Given the description of an element on the screen output the (x, y) to click on. 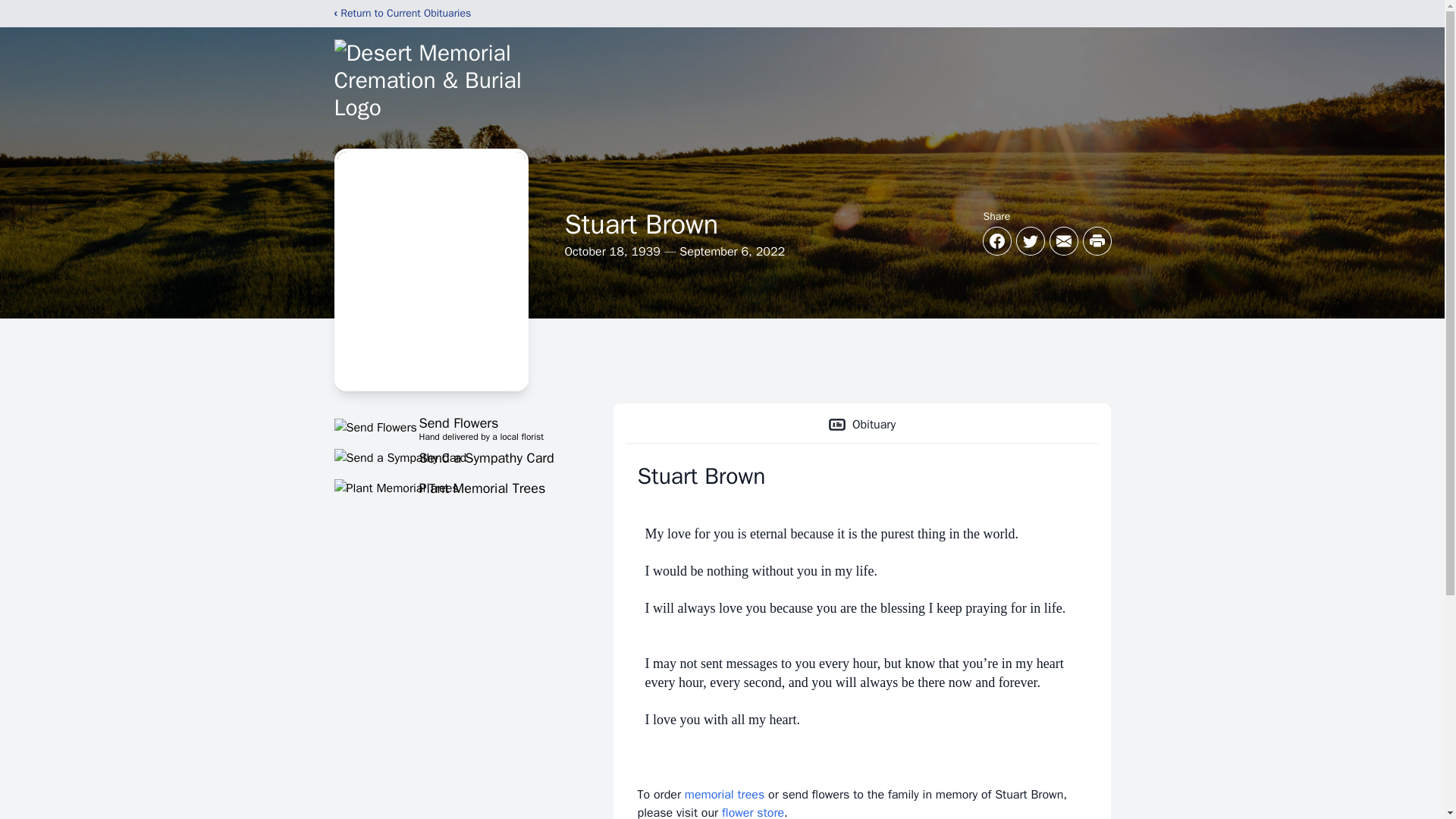
Plant Memorial Trees (454, 488)
flower store (753, 812)
Send a Sympathy Card (454, 457)
memorial trees (724, 794)
Obituary (454, 427)
